Given the description of an element on the screen output the (x, y) to click on. 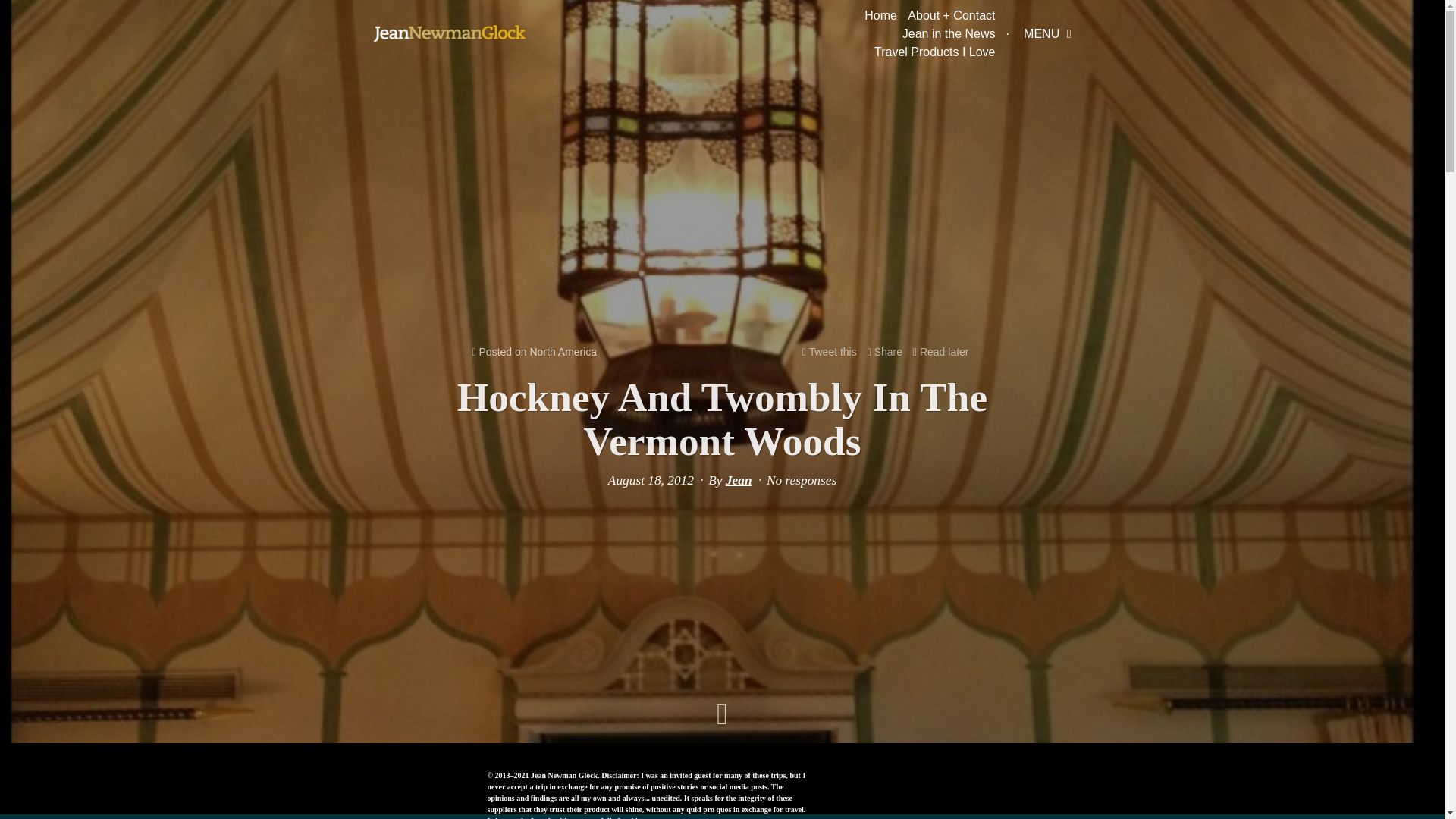
Hockney And Twombly In The Vermont Woods (721, 418)
Search (24, 9)
